Given the description of an element on the screen output the (x, y) to click on. 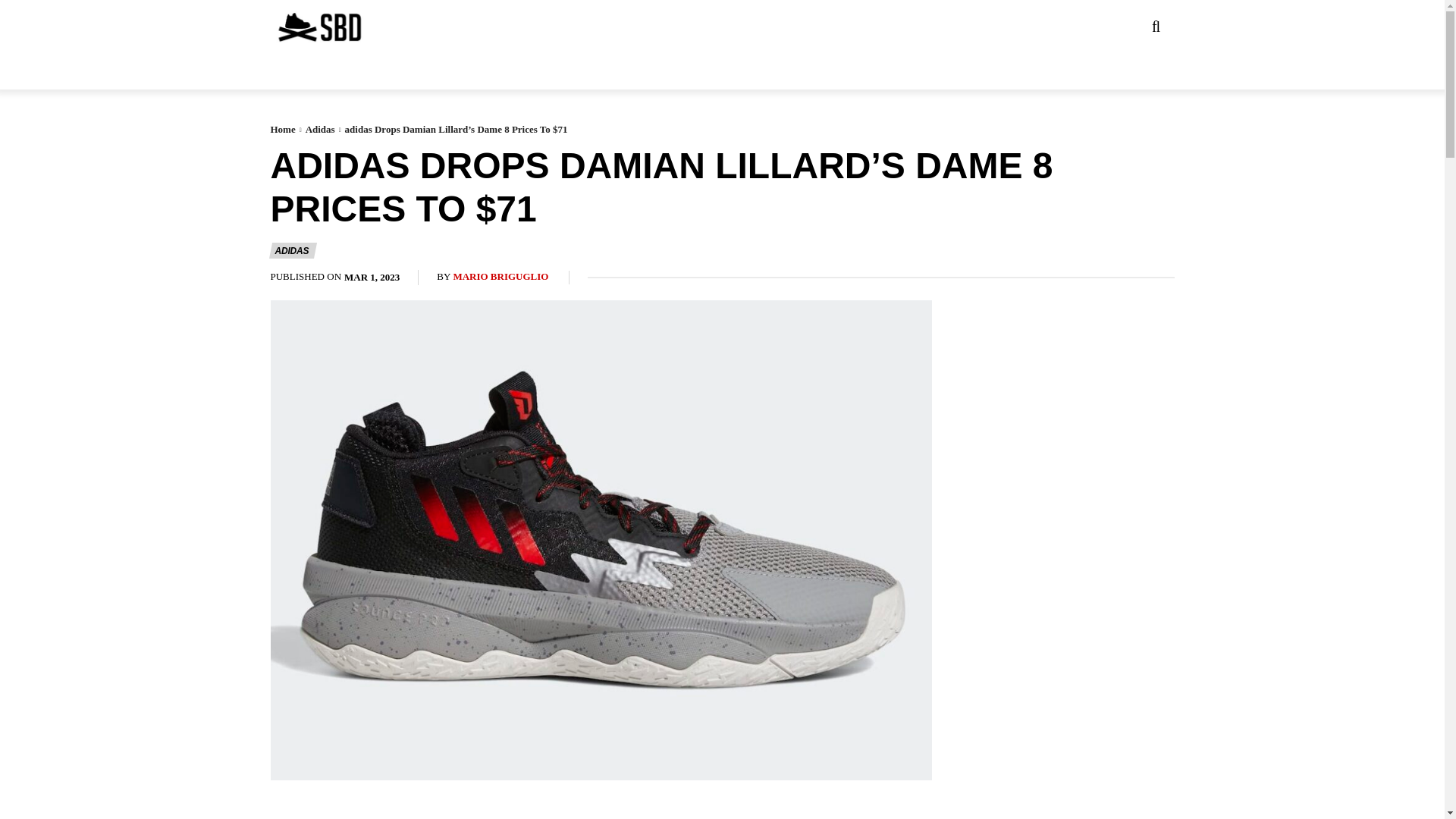
View all posts in Adidas (319, 129)
Sneaker News and Release Dates (288, 26)
Sneaker News and Release Dates (318, 26)
